Given the description of an element on the screen output the (x, y) to click on. 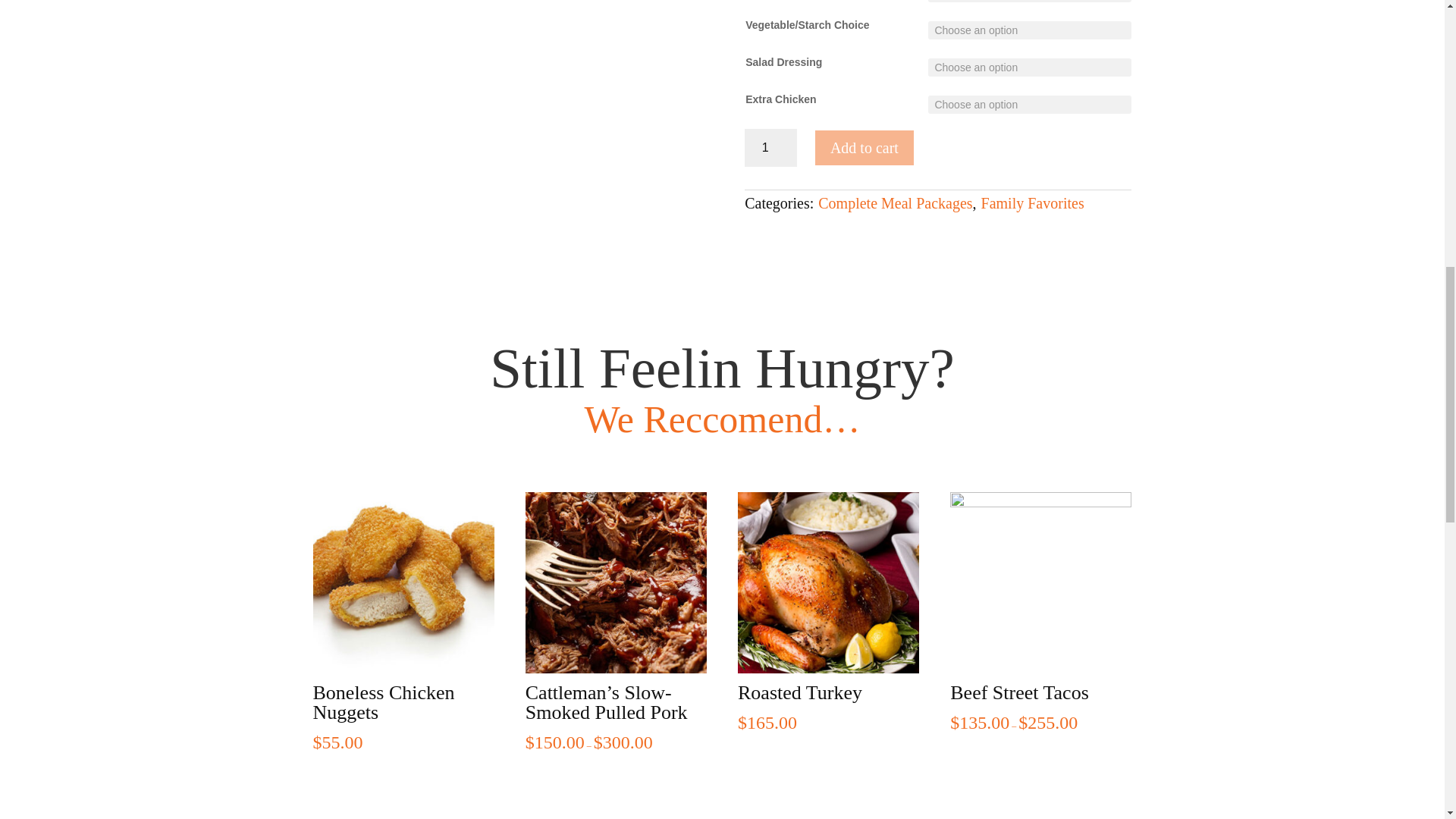
Complete Meal Packages (895, 202)
Add to cart (864, 147)
Family Favorites (1032, 202)
Qty (770, 147)
1 (770, 147)
